Given the description of an element on the screen output the (x, y) to click on. 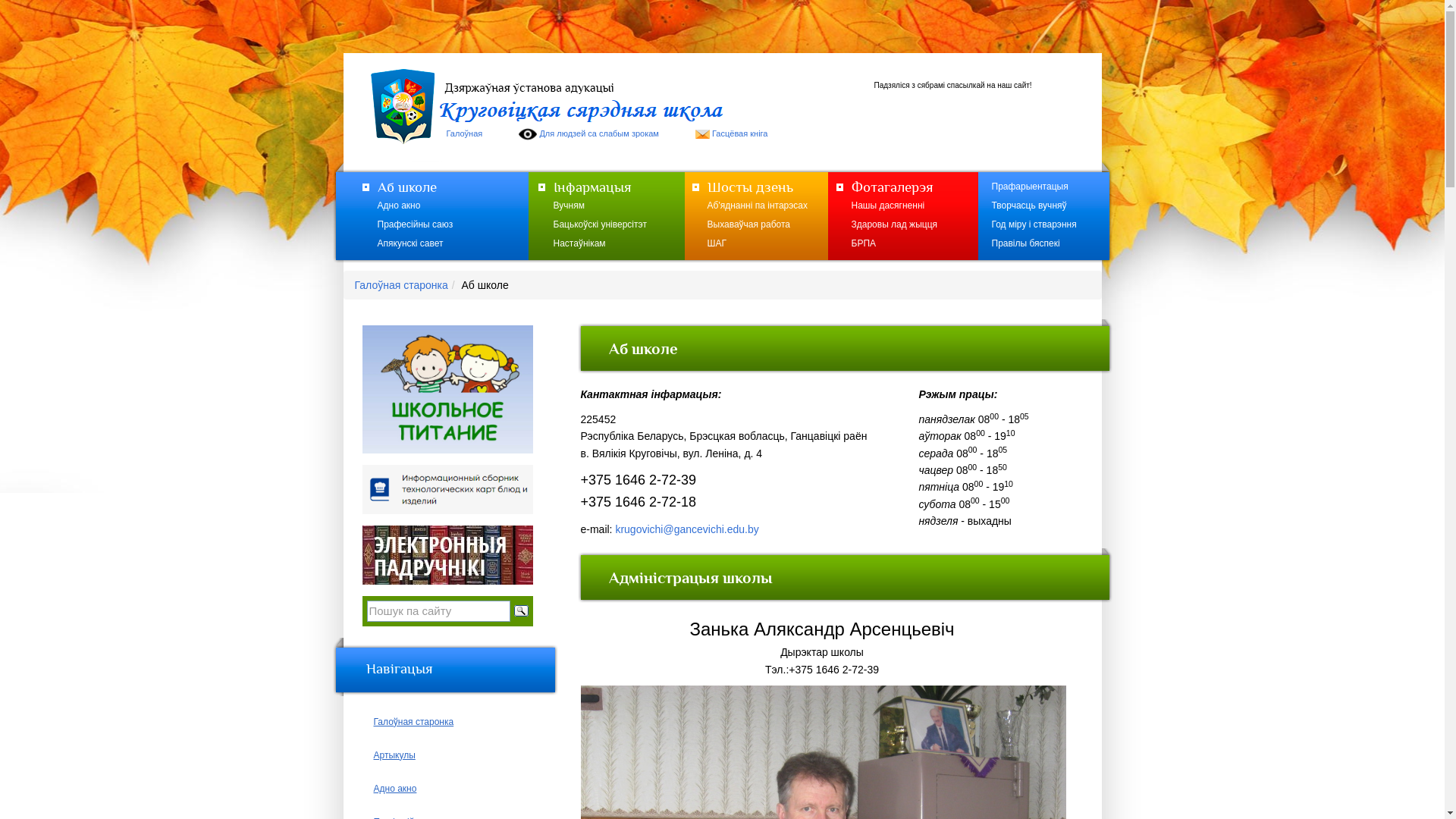
krugovichi@gancevichi.edu.by Element type: text (686, 529)
